Given the description of an element on the screen output the (x, y) to click on. 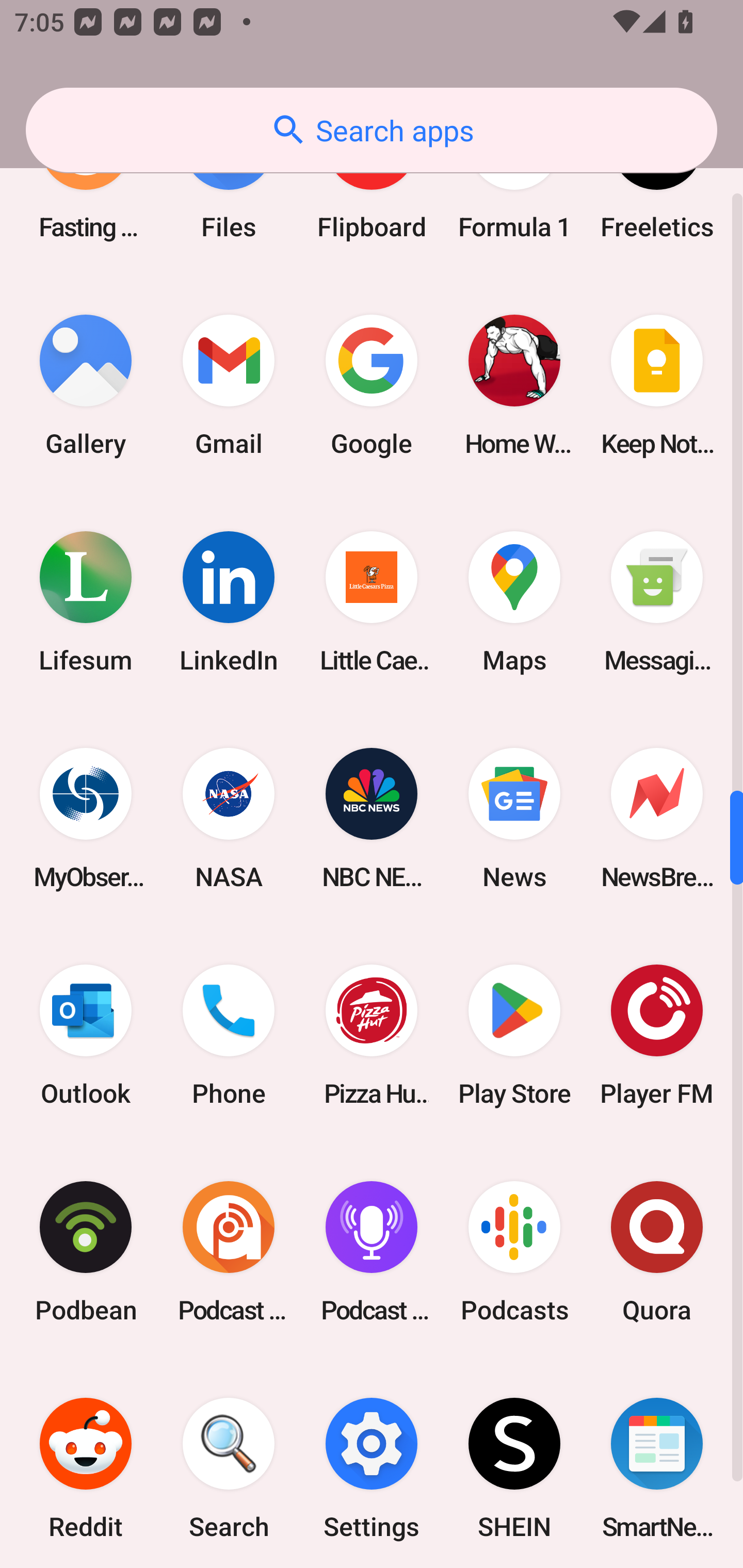
  Search apps (371, 130)
Gallery (85, 385)
Gmail (228, 385)
Google (371, 385)
Home Workout (514, 385)
Keep Notes (656, 385)
Lifesum (85, 601)
LinkedIn (228, 601)
Little Caesars Pizza (371, 601)
Maps (514, 601)
Messaging (656, 601)
MyObservatory (85, 818)
NASA (228, 818)
NBC NEWS (371, 818)
News (514, 818)
NewsBreak (656, 818)
Outlook (85, 1034)
Phone (228, 1034)
Pizza Hut HK & Macau (371, 1034)
Play Store (514, 1034)
Player FM (656, 1034)
Podbean (85, 1251)
Podcast Addict (228, 1251)
Podcast Player (371, 1251)
Podcasts (514, 1251)
Quora (656, 1251)
Reddit (85, 1463)
Search (228, 1463)
Settings (371, 1463)
SHEIN (514, 1463)
SmartNews (656, 1463)
